Given the description of an element on the screen output the (x, y) to click on. 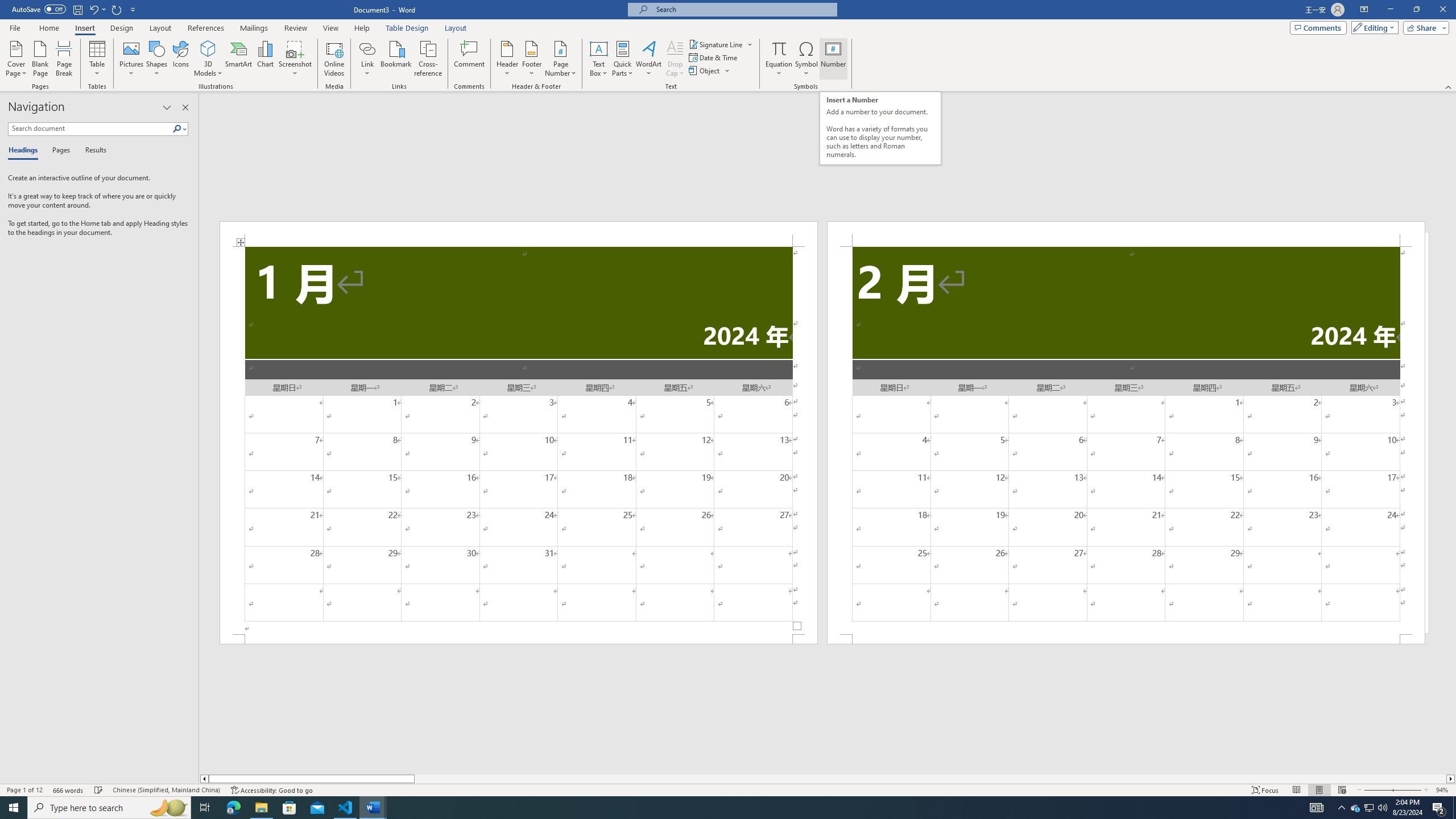
Drop Cap (674, 58)
WordArt (648, 58)
Repeat Doc Close (117, 9)
Microsoft search (742, 9)
Date & Time... (714, 56)
Undo Increase Indent (92, 9)
Table (97, 58)
Search document (89, 128)
Language Chinese (Simplified, Mainland China) (165, 790)
3D Models (208, 48)
Equation (778, 58)
